Given the description of an element on the screen output the (x, y) to click on. 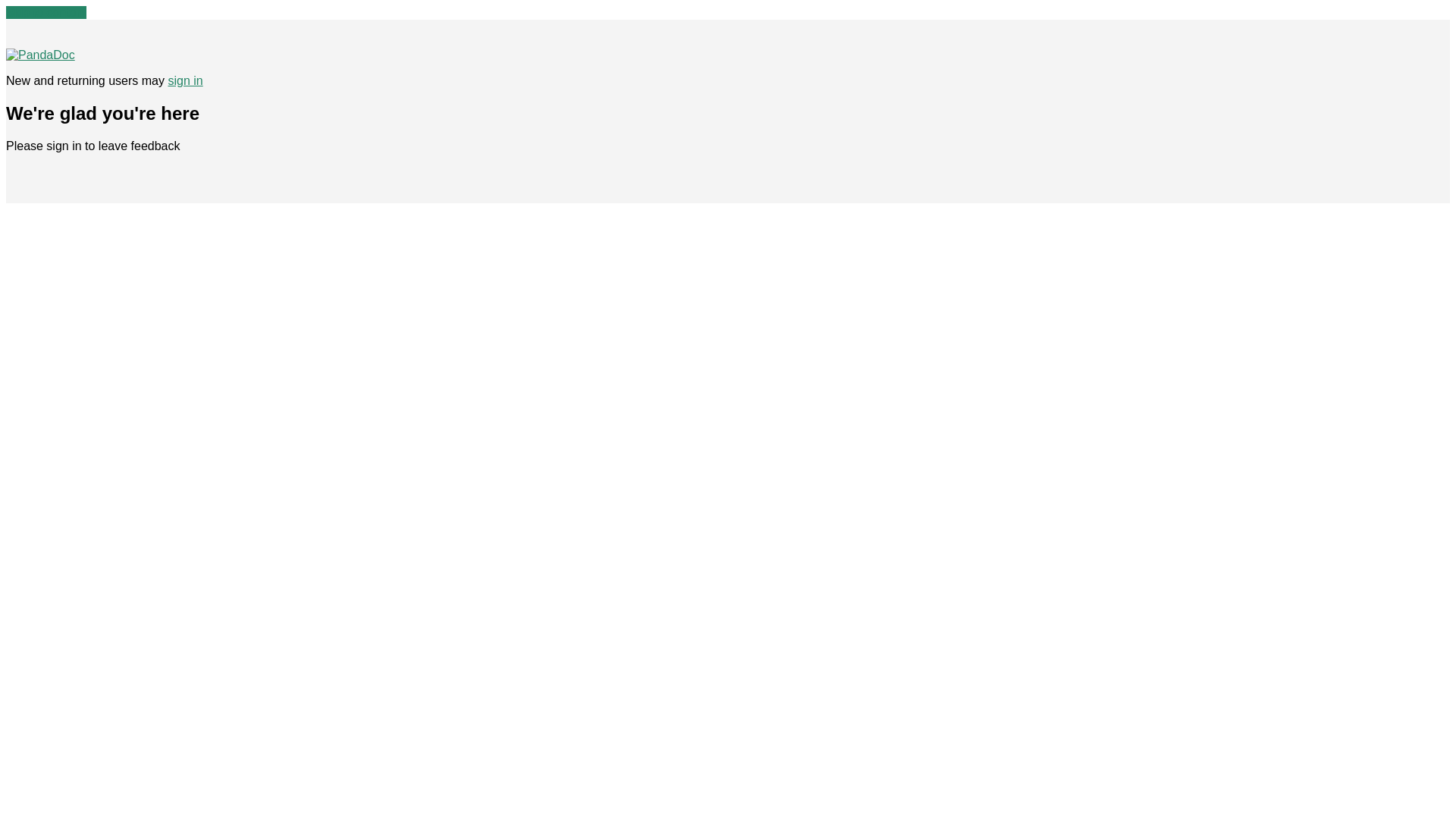
Skip to content (45, 11)
Have an idea? Share it! (40, 54)
sign in (184, 80)
